Given the description of an element on the screen output the (x, y) to click on. 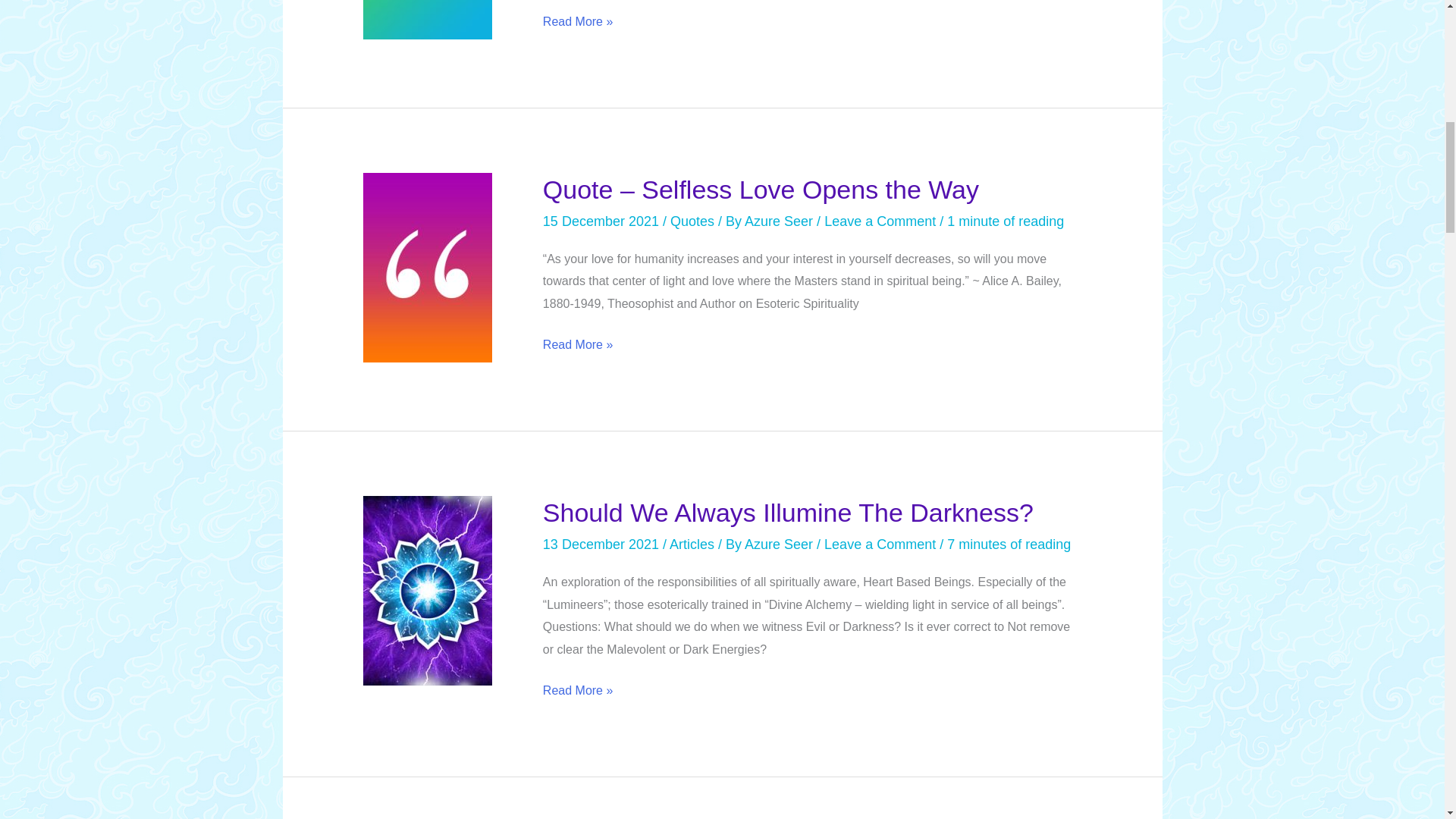
Should We Always Illumine The Darkness? (788, 512)
Azure Seer (780, 221)
Articles (691, 544)
Leave a Comment (880, 221)
Azure Seer (780, 544)
Leave a Comment (880, 544)
Quotes (691, 221)
View all posts by Azure Seer (780, 544)
View all posts by Azure Seer (780, 221)
